Given the description of an element on the screen output the (x, y) to click on. 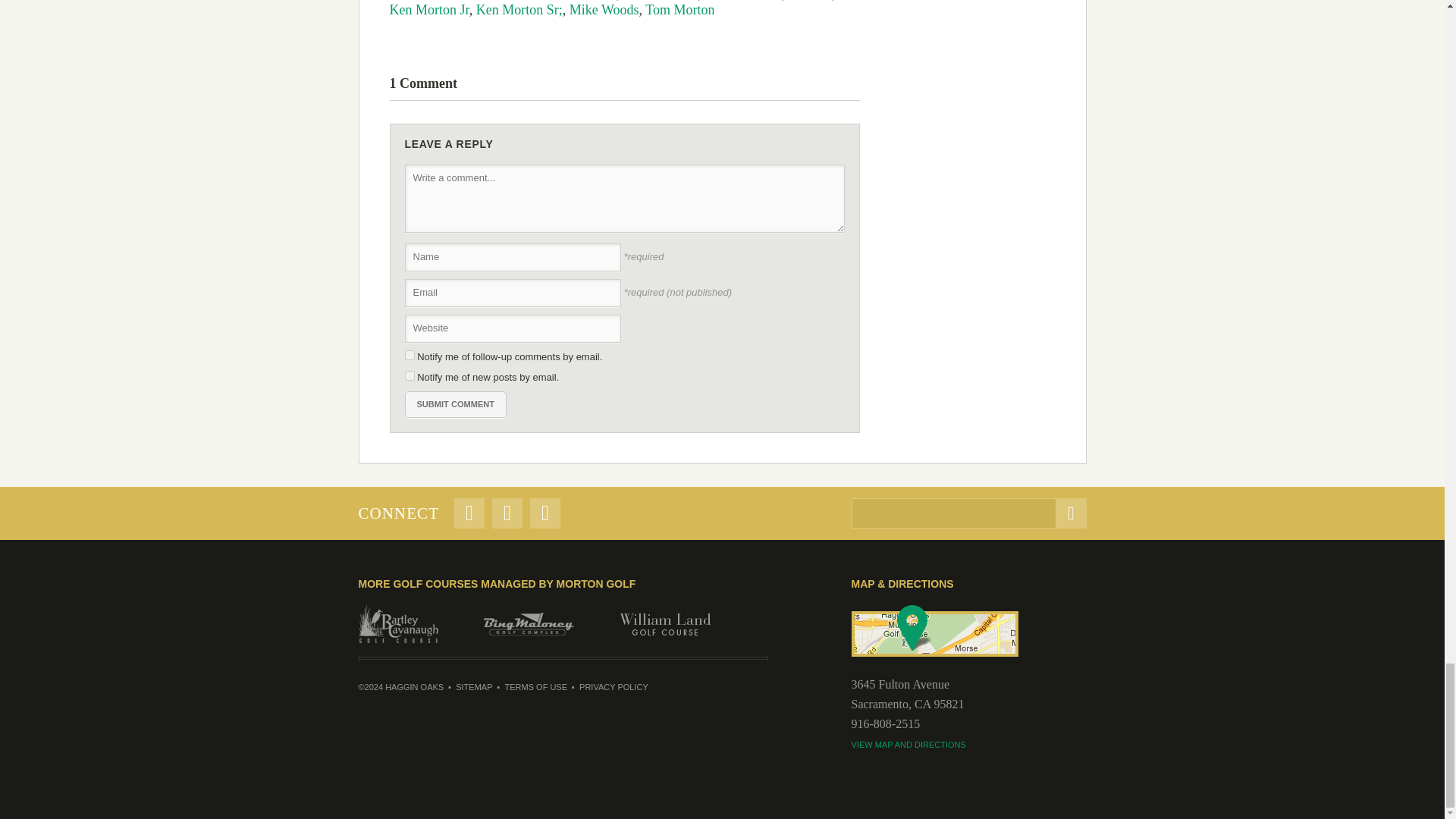
subscribe (409, 355)
subscribe (409, 375)
Submit Comment (455, 404)
